Given the description of an element on the screen output the (x, y) to click on. 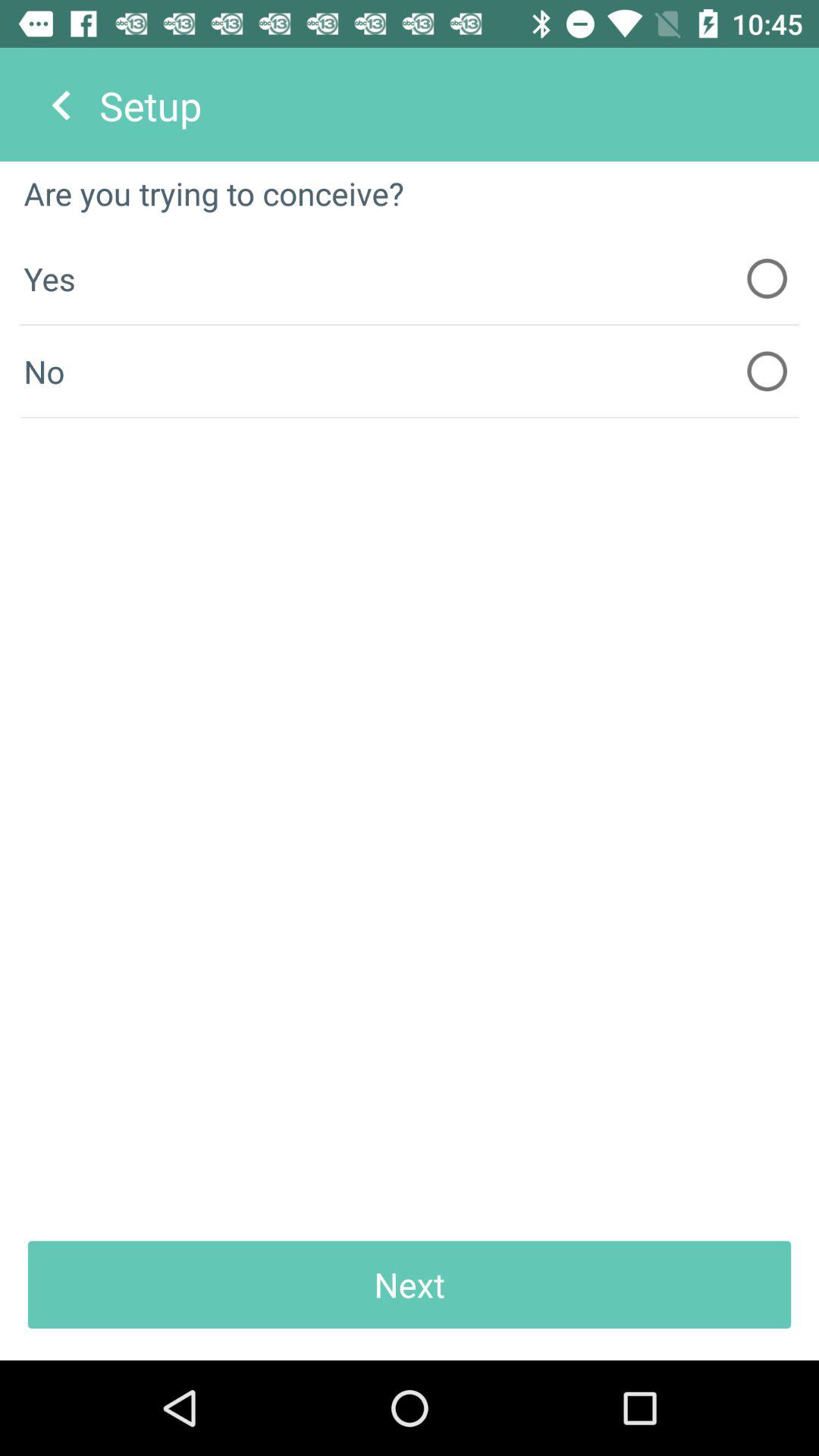
launch the next (409, 1284)
